Given the description of an element on the screen output the (x, y) to click on. 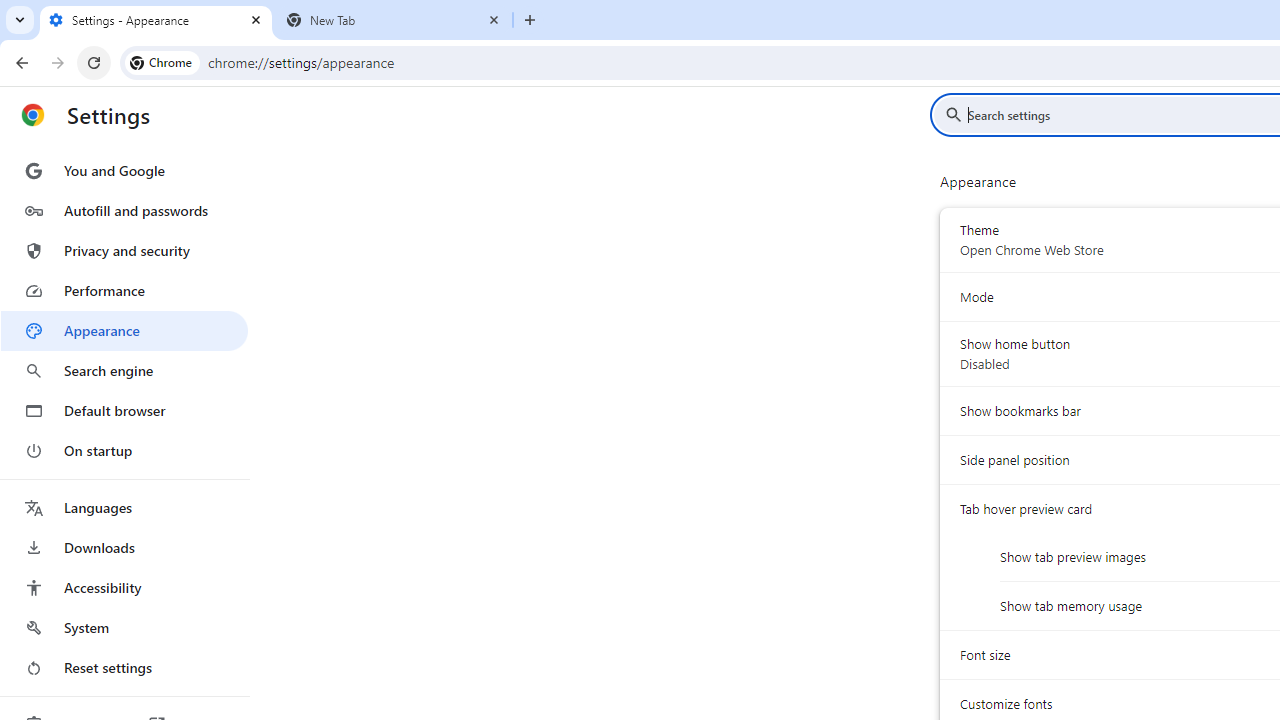
Autofill and passwords (124, 210)
Languages (124, 507)
You and Google (124, 170)
Performance (124, 290)
Accessibility (124, 587)
